Given the description of an element on the screen output the (x, y) to click on. 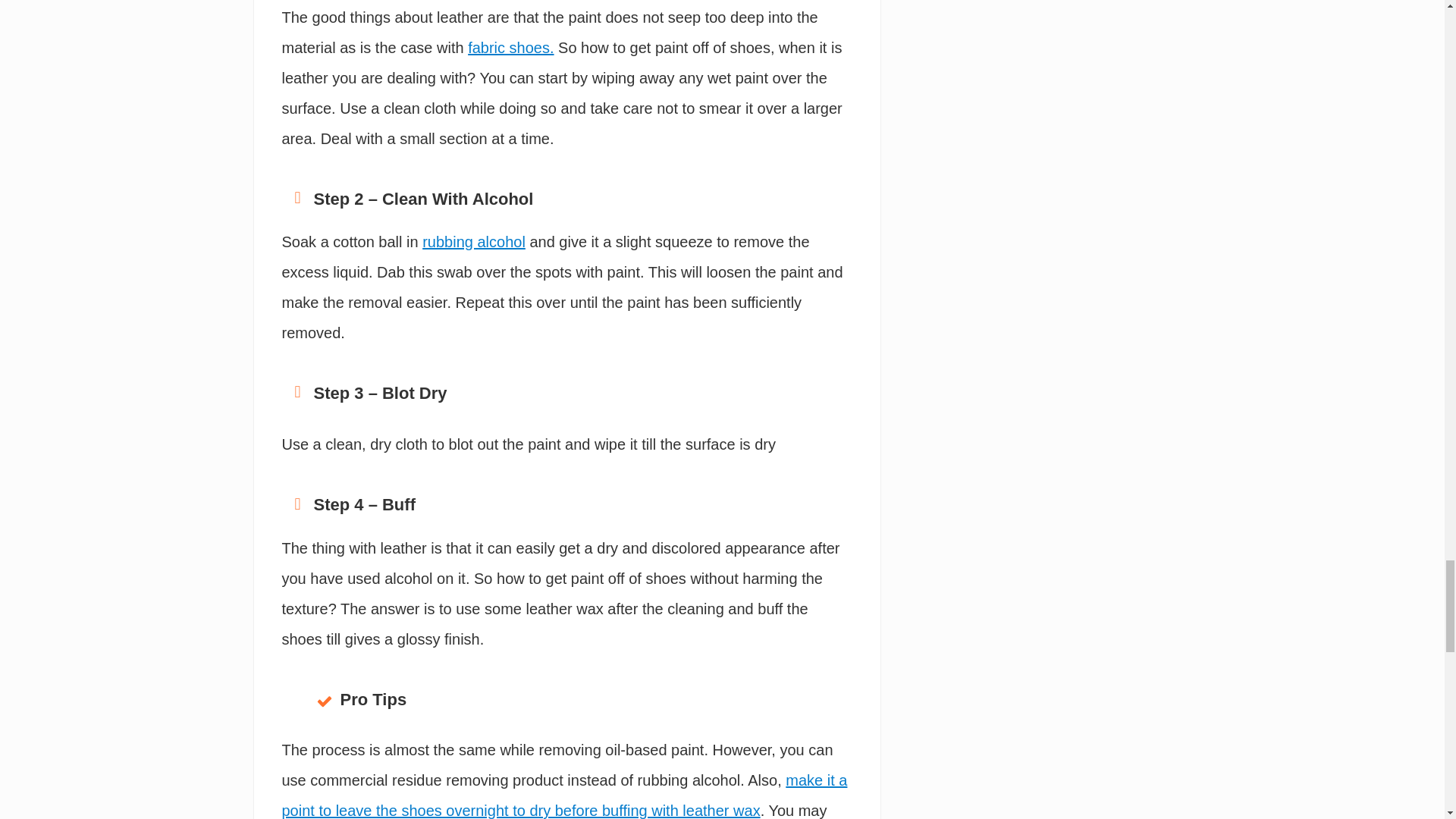
rubbing alcohol (473, 241)
fabric shoes. (510, 47)
